Given the description of an element on the screen output the (x, y) to click on. 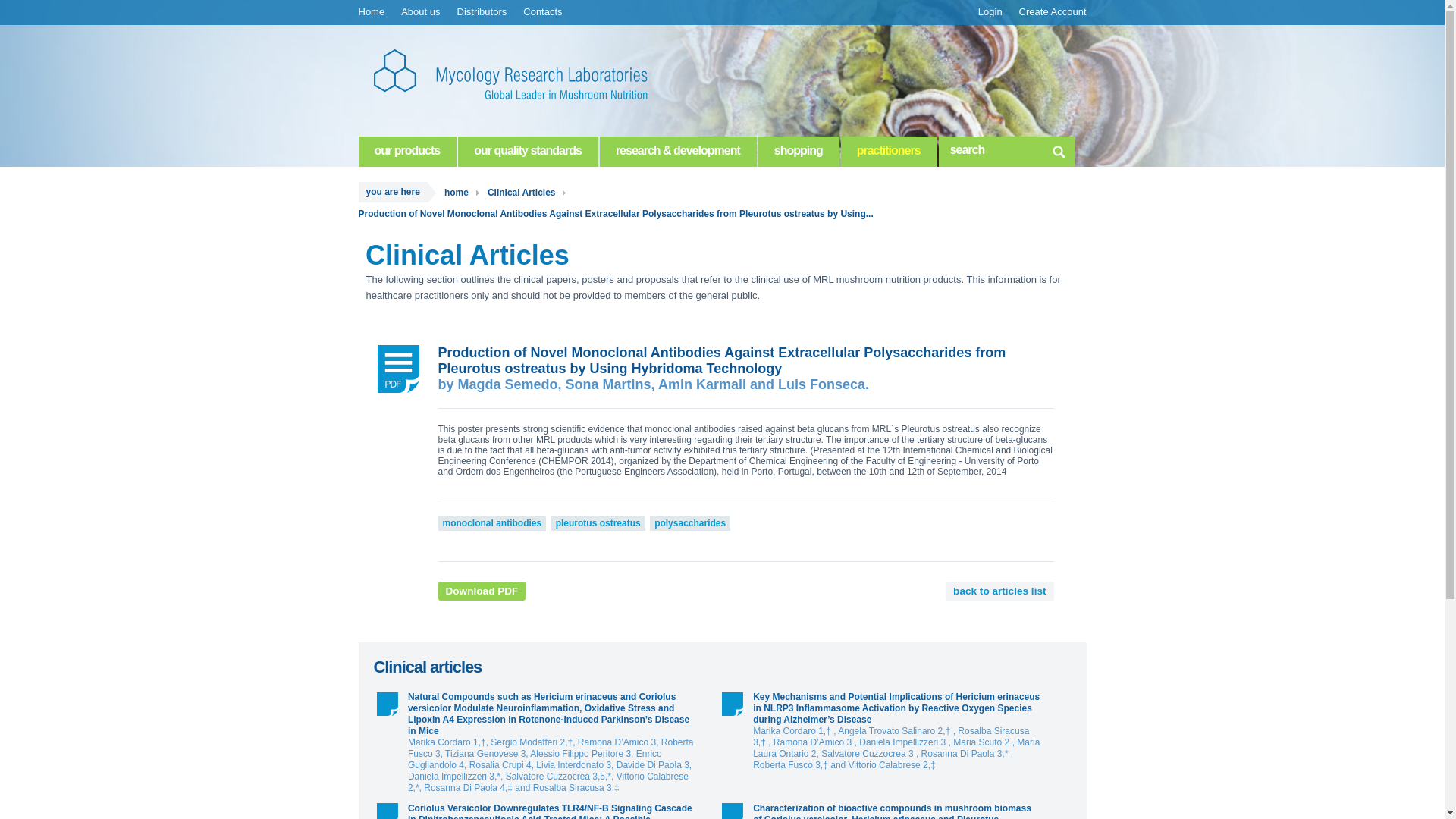
our products (407, 151)
About us (420, 12)
Login (990, 12)
Home (371, 12)
Distributors (481, 12)
Contacts (542, 12)
Create Account (1052, 12)
